Given the description of an element on the screen output the (x, y) to click on. 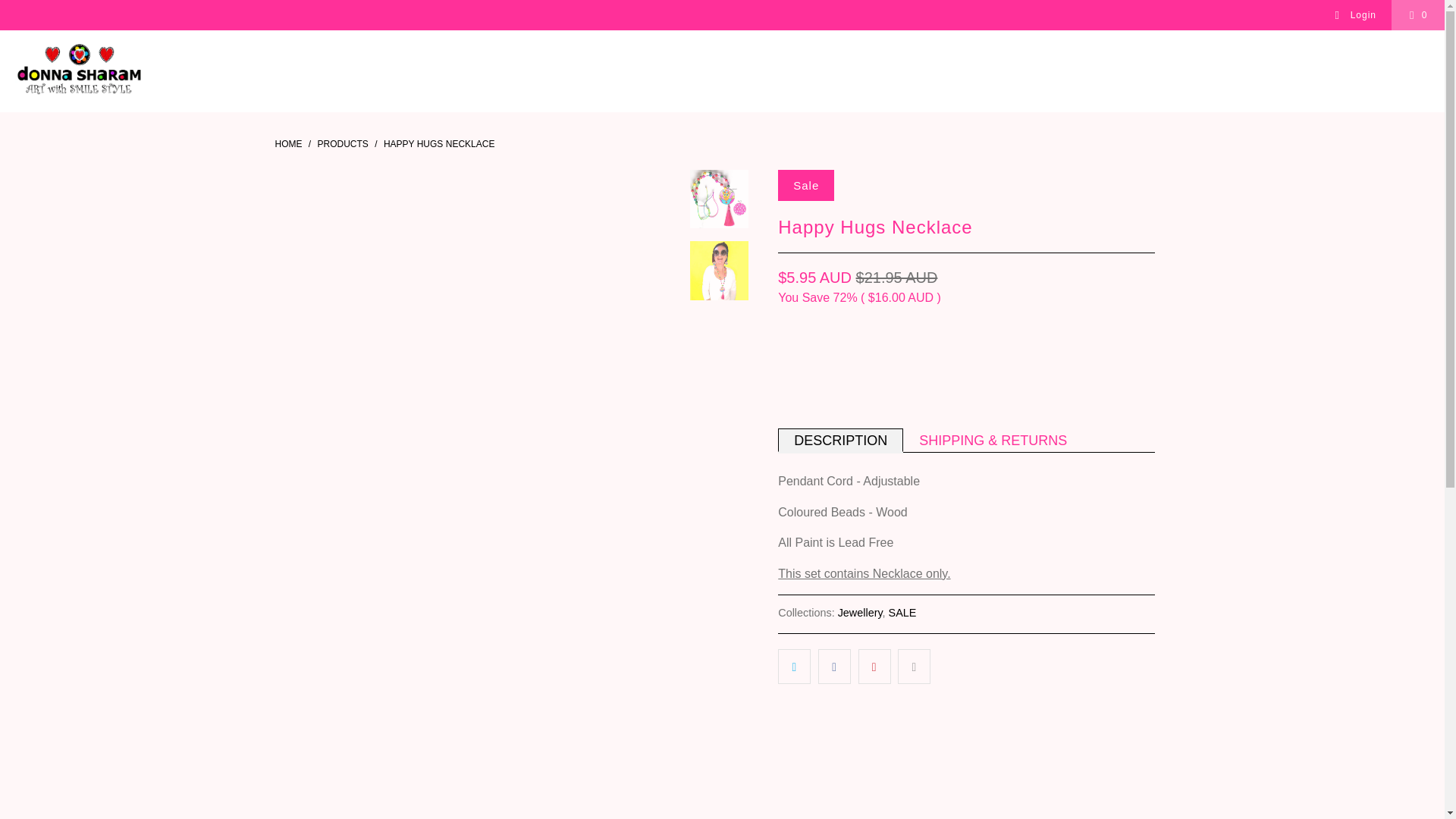
Products (342, 143)
My Account  (1355, 15)
Email this to a friend (914, 666)
Share this on Twitter (793, 666)
Login (1355, 15)
Jewellery (860, 612)
Donna Sharam Art Gallery (288, 143)
Share this on Pinterest (875, 666)
Donna Sharam Art Gallery (79, 70)
Share this on Facebook (834, 666)
SALE (902, 612)
